Given the description of an element on the screen output the (x, y) to click on. 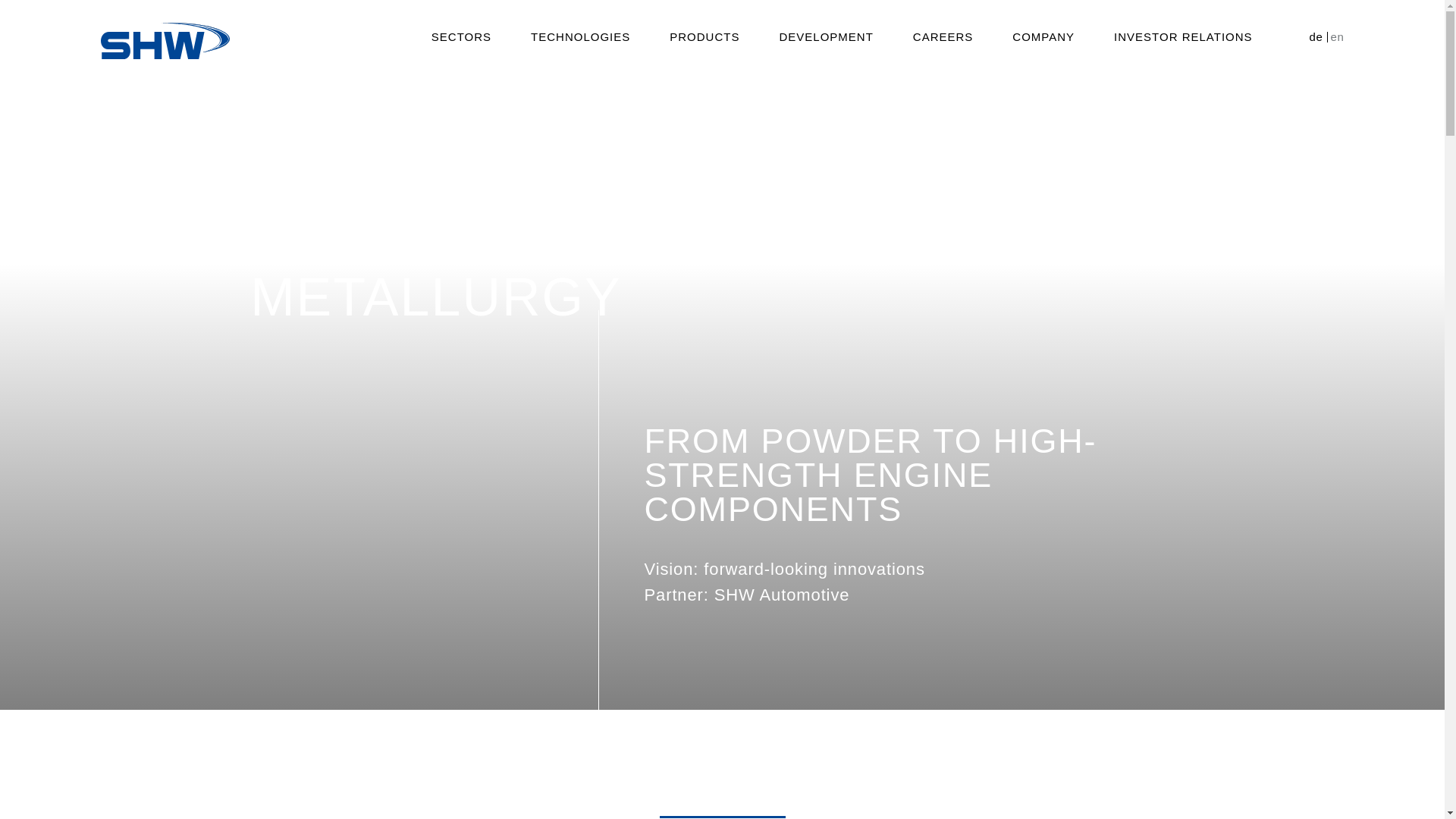
TECHNOLOGIES (580, 37)
PRODUCTS (703, 37)
SECTORS (461, 37)
CAREERS (942, 37)
DEVELOPMENT (825, 37)
COMPANY (1043, 37)
INVESTOR RELATIONS (1182, 37)
